Given the description of an element on the screen output the (x, y) to click on. 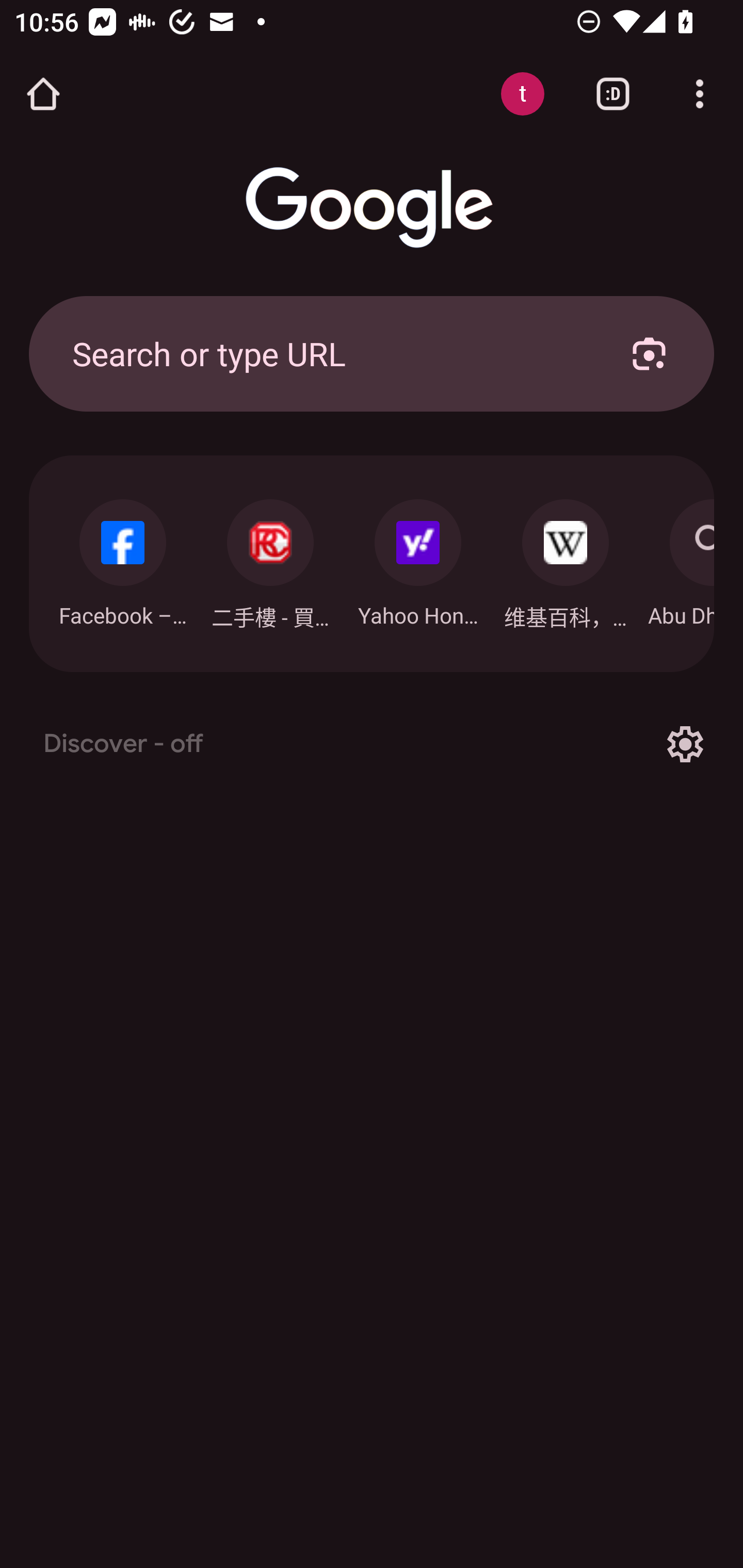
Open the home page (43, 93)
Switch or close tabs (612, 93)
Customize and control Google Chrome (699, 93)
Search or type URL (327, 353)
Search with your camera using Google Lens (648, 353)
Options for Discover (684, 743)
